Given the description of an element on the screen output the (x, y) to click on. 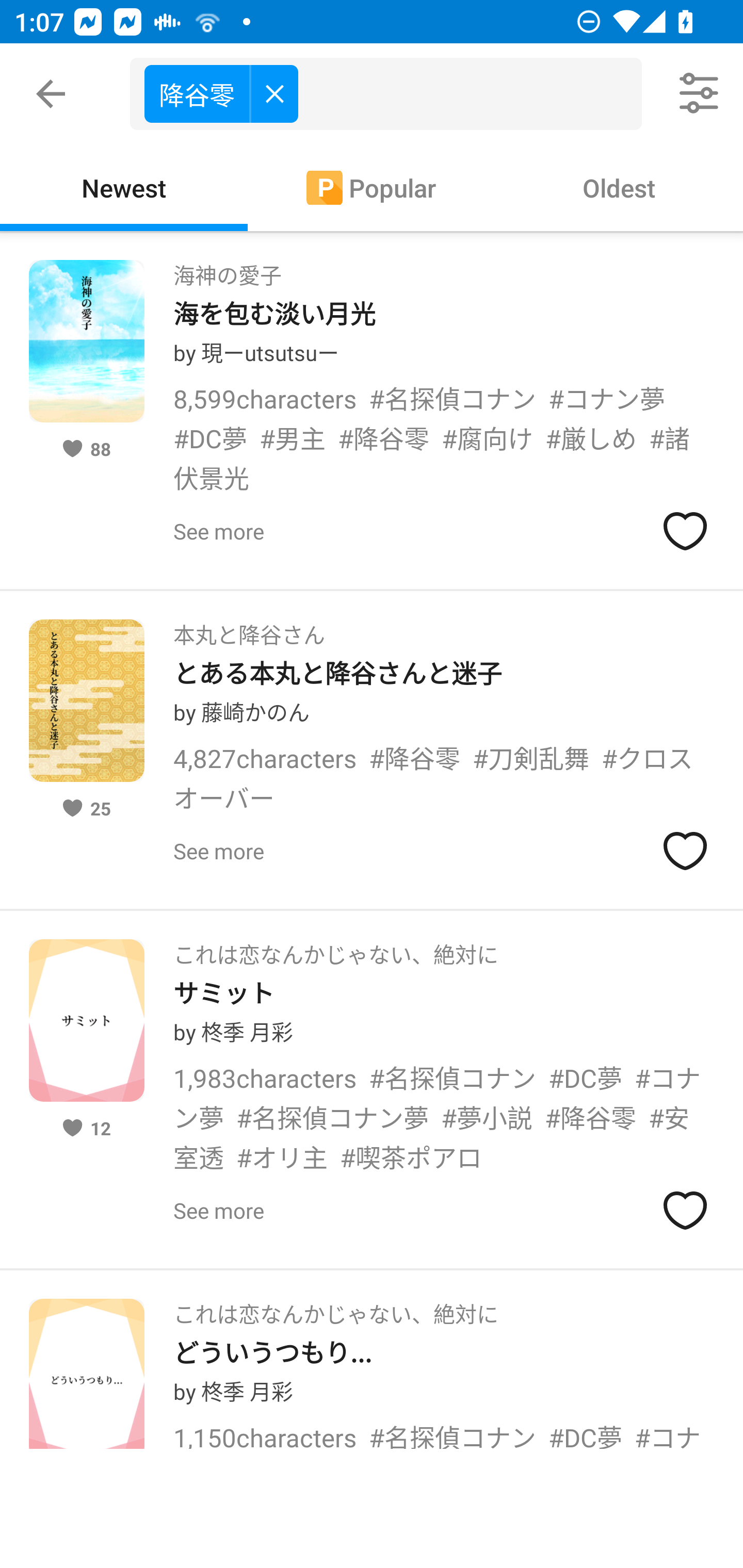
Navigate up (50, 93)
Filters (699, 93)
降谷零 (220, 93)
[P] Popular (371, 187)
Oldest (619, 187)
海神の愛子 (227, 269)
本丸と降谷さん (248, 628)
これは恋なんかじゃない、絶対に (335, 948)
これは恋なんかじゃない、絶対に (335, 1308)
